Given the description of an element on the screen output the (x, y) to click on. 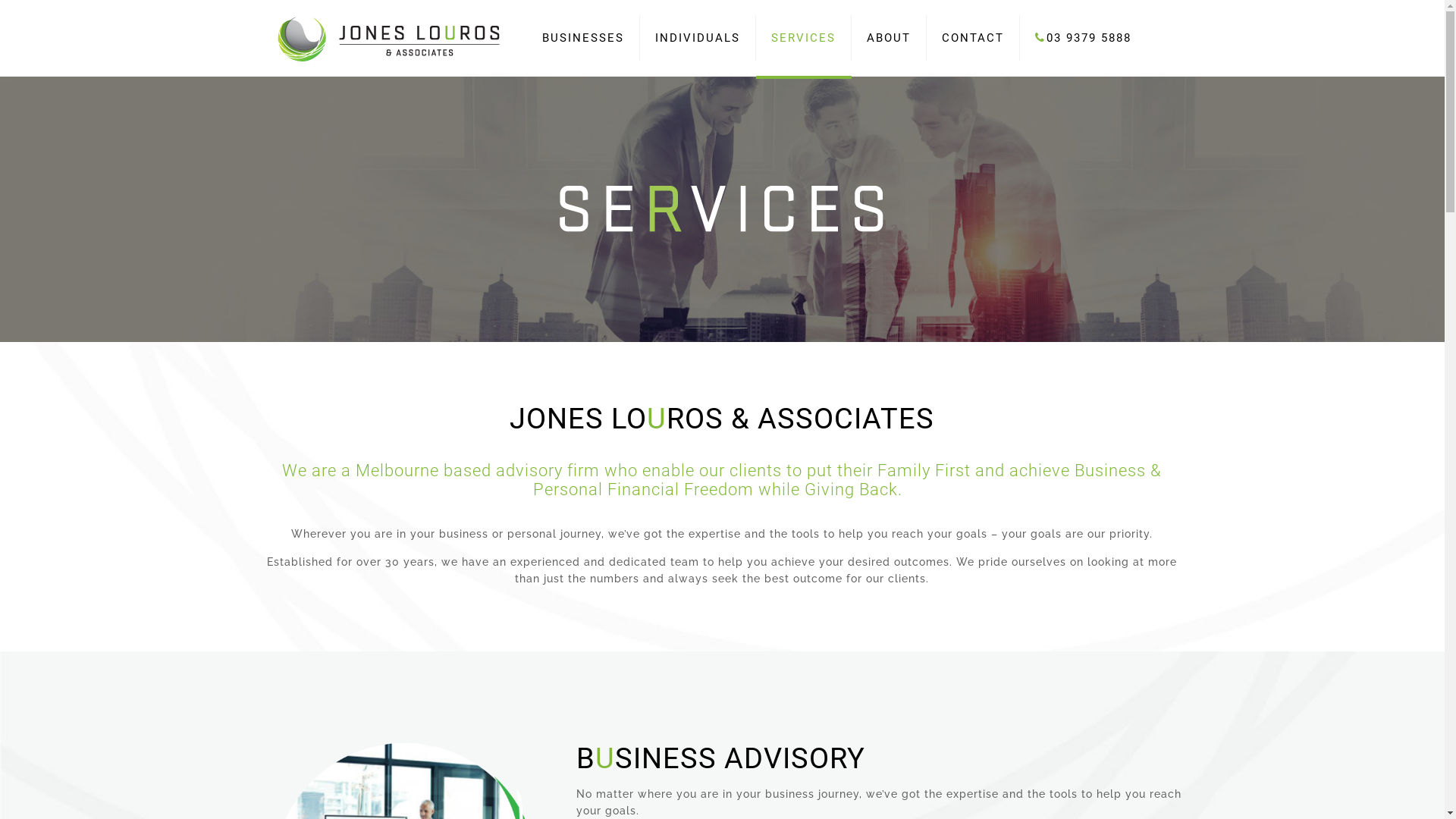
ABOUT Element type: text (887, 37)
03 9379 5888 Element type: text (1082, 37)
Jones Louros & Associates Element type: hover (389, 37)
SERVICES Element type: text (802, 37)
INDIVIDUALS Element type: text (698, 37)
BUSINESSES Element type: text (582, 37)
CONTACT Element type: text (972, 37)
